Given the description of an element on the screen output the (x, y) to click on. 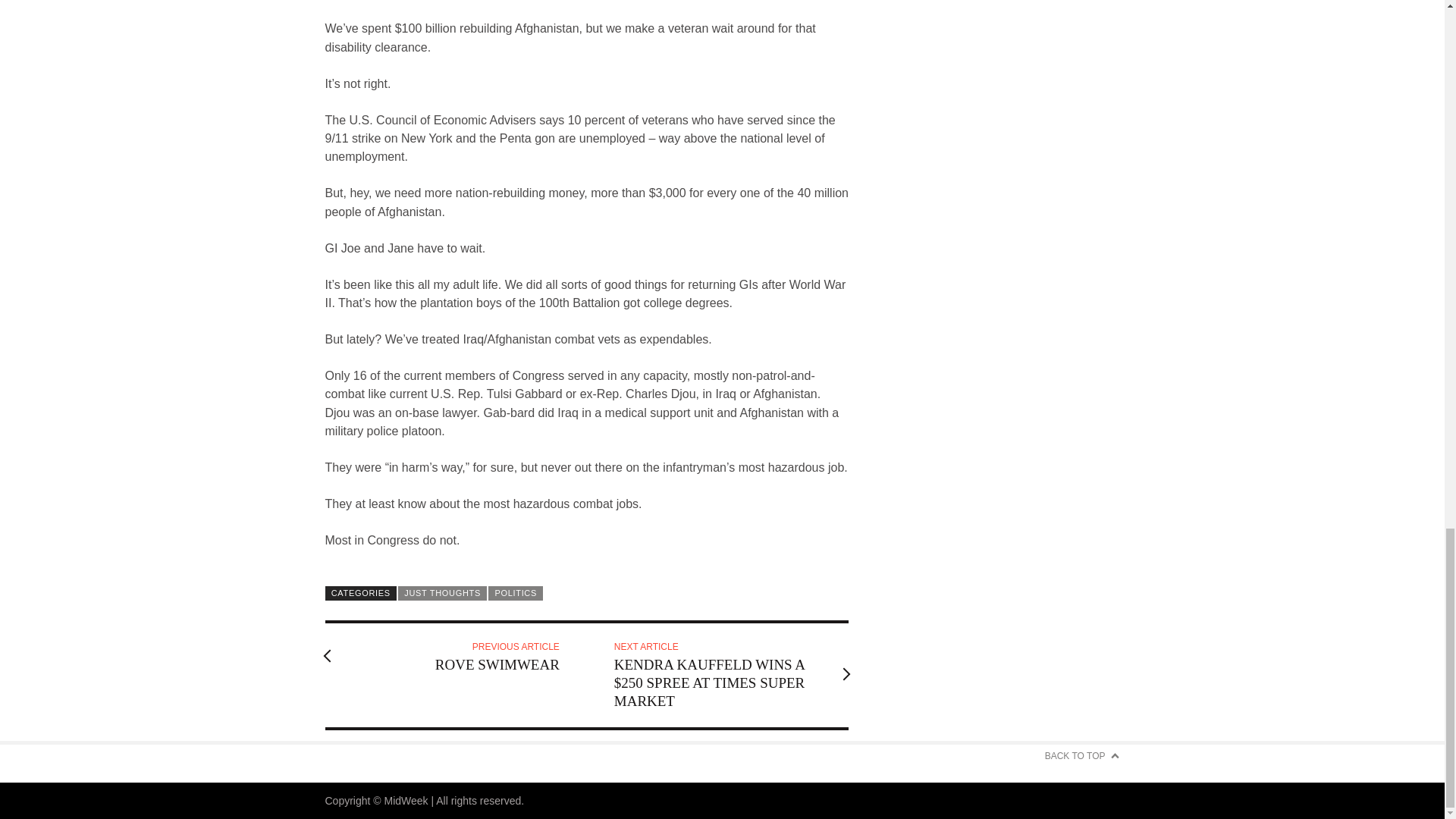
JUST THOUGHTS (441, 592)
View all posts in Just Thoughts (441, 592)
POLITICS (515, 592)
View all posts in Politics (515, 592)
